Given the description of an element on the screen output the (x, y) to click on. 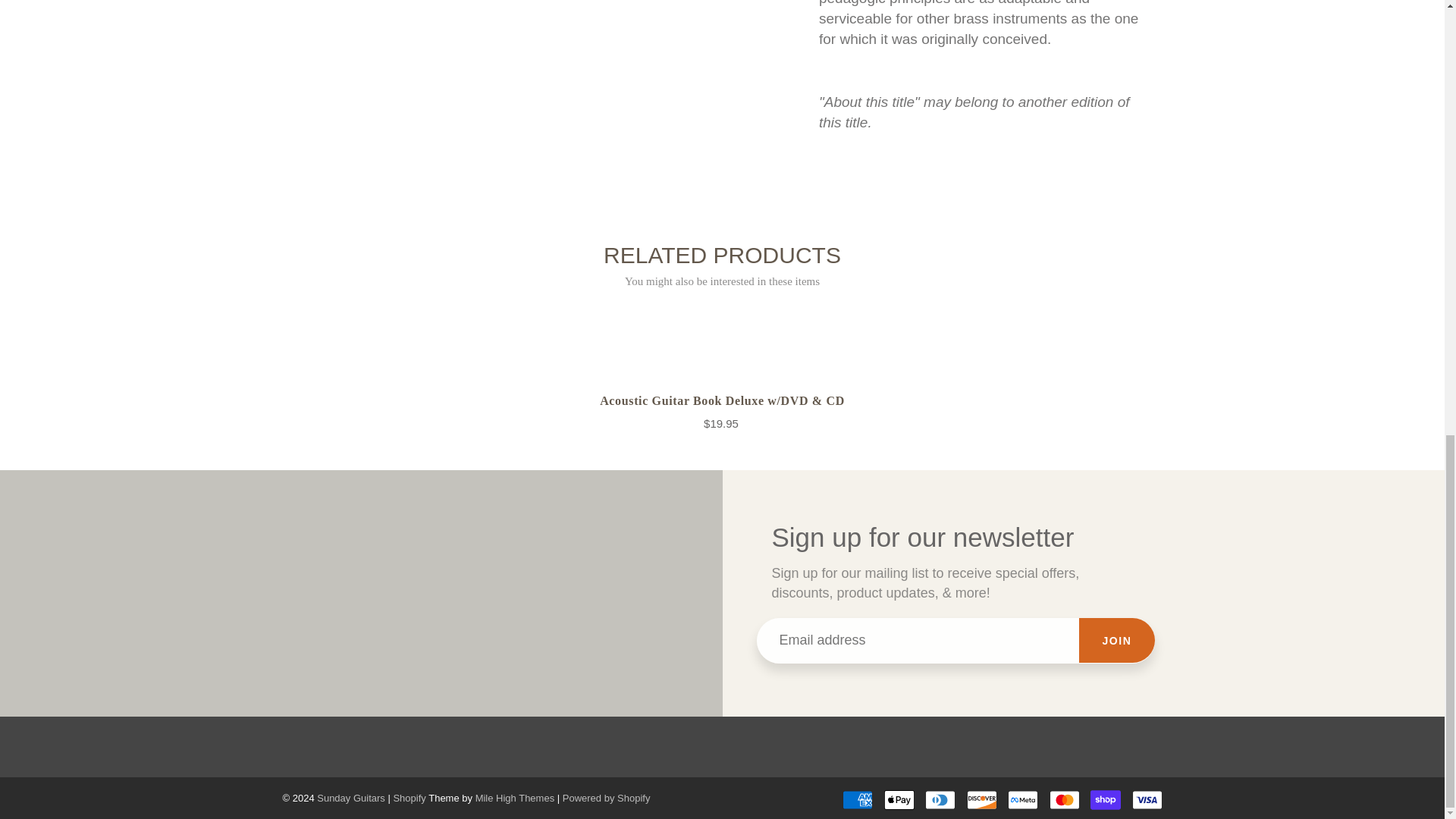
Discover (981, 799)
Shop Pay (1105, 799)
Apple Pay (898, 799)
Visa (1146, 799)
American Express (857, 799)
Diners Club (939, 799)
Meta Pay (1022, 799)
Mastercard (1064, 799)
